Given the description of an element on the screen output the (x, y) to click on. 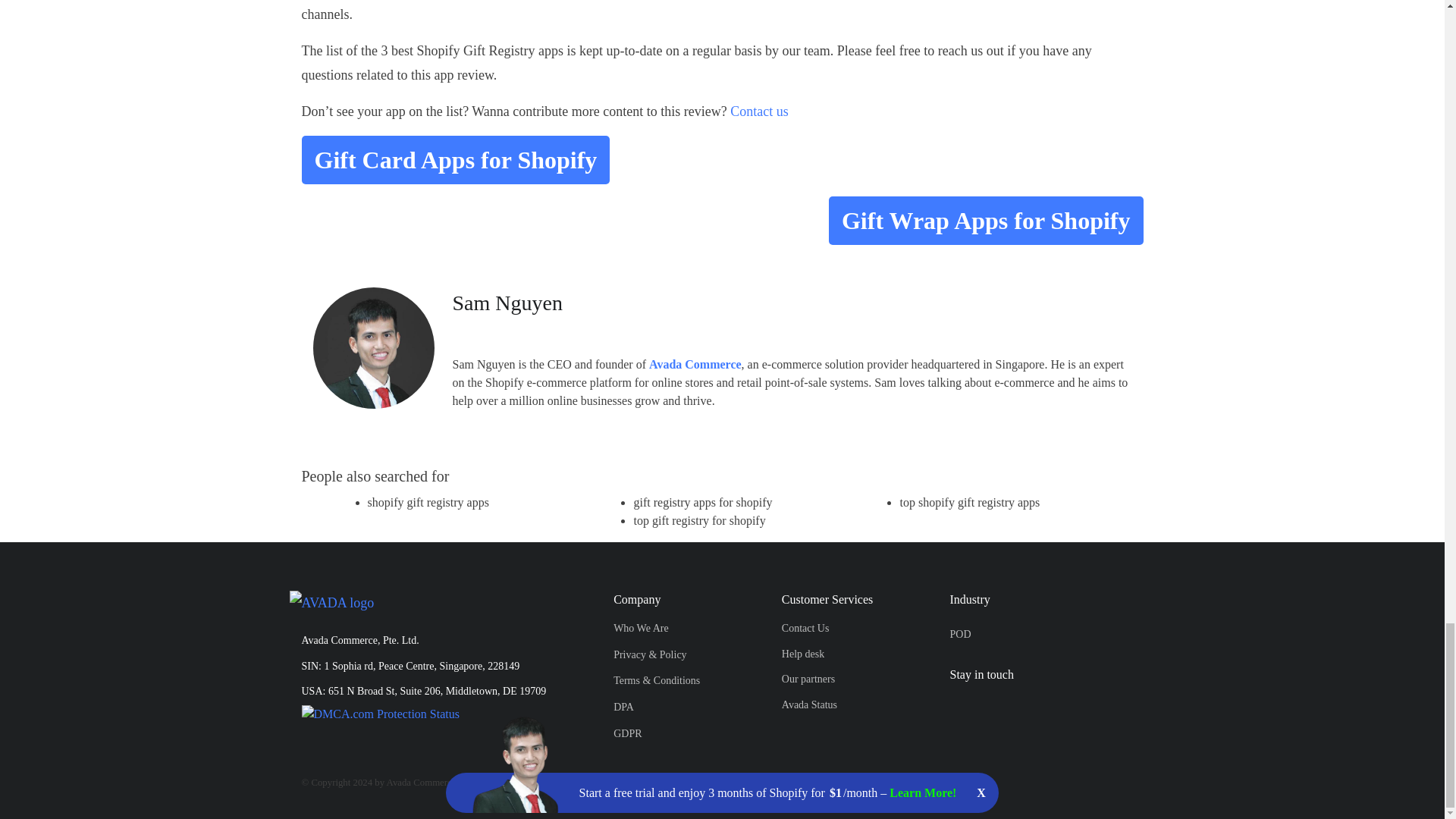
DMCA.com Protection Status (380, 712)
